Given the description of an element on the screen output the (x, y) to click on. 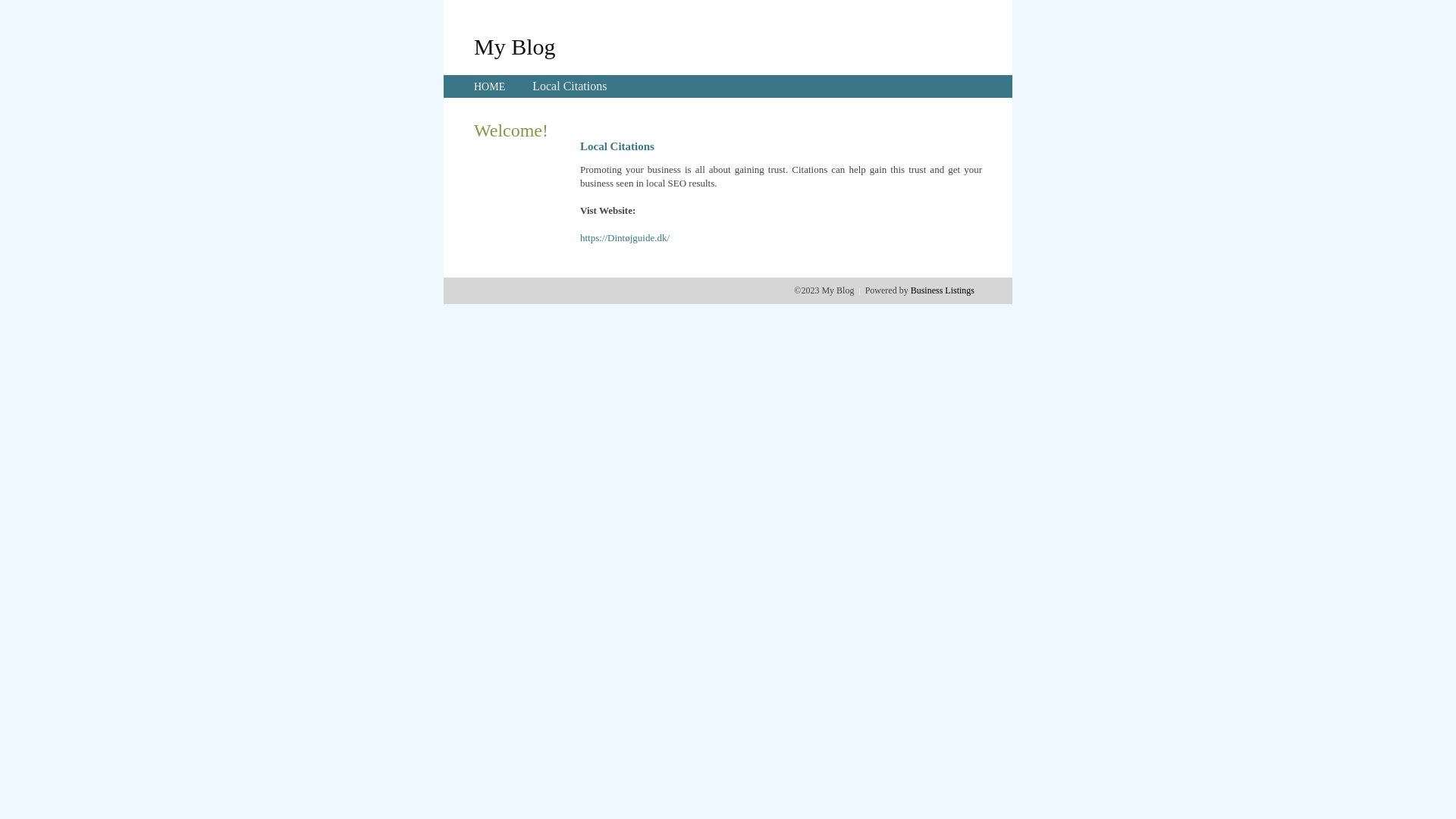
Local Citations Element type: text (569, 85)
Business Listings Element type: text (942, 290)
HOME Element type: text (489, 86)
My Blog Element type: text (514, 46)
